Given the description of an element on the screen output the (x, y) to click on. 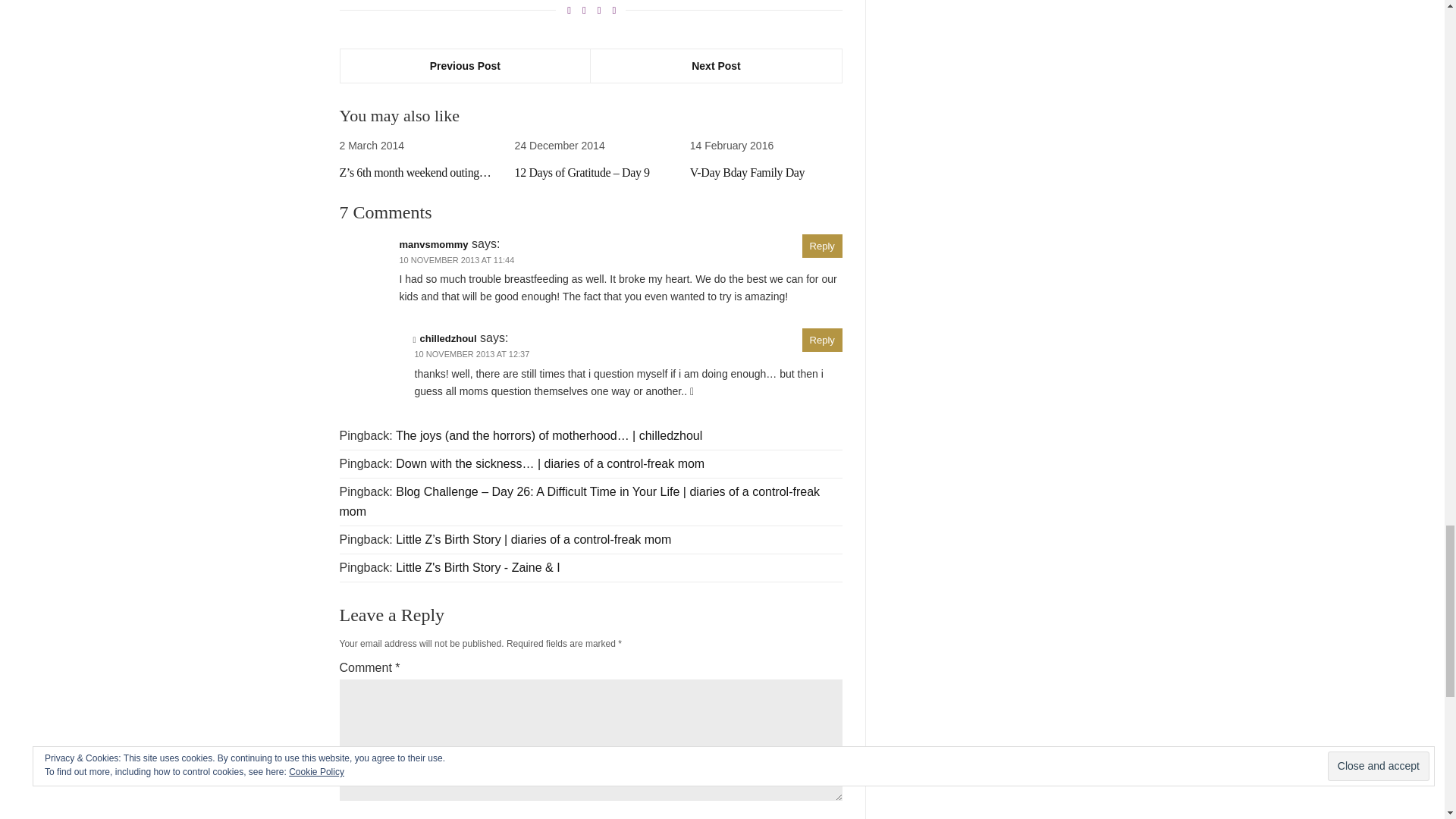
10 NOVEMBER 2013 AT 12:37 (471, 353)
10 NOVEMBER 2013 AT 11:44 (455, 259)
Reply (822, 245)
V-Day Bday Family Day (747, 172)
Previous Post (465, 65)
chilledzhoul (448, 337)
manvsmommy (432, 244)
Next Post (716, 65)
